Given the description of an element on the screen output the (x, y) to click on. 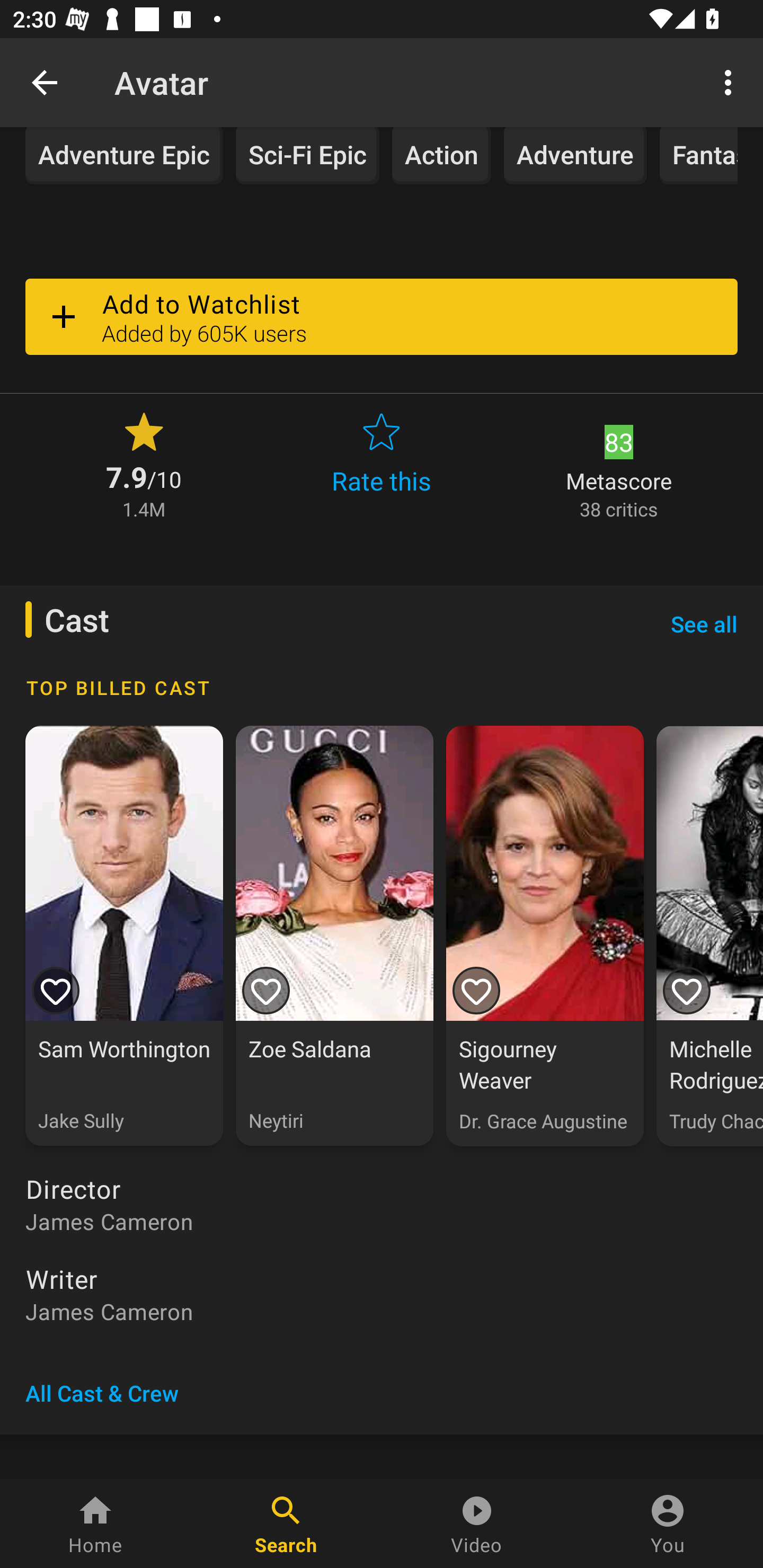
More options (731, 81)
Adventure Epic (123, 156)
Sci-Fi Epic (307, 156)
Action (441, 156)
Adventure (575, 156)
Fantasy (698, 156)
Add to Watchlist Added by 605K users (381, 316)
7.9 /10 1.4M (143, 464)
Rate this (381, 464)
83 Metascore 38 critics (618, 464)
See all See all Cast (703, 623)
Sam Worthington Jake Sully (123, 935)
Zoe Saldana Neytiri (334, 935)
Sigourney Weaver Dr. Grace Augustine (544, 935)
Michelle Rodriguez Trudy Chacón (709, 935)
James Cameron (381, 1221)
James Cameron (381, 1311)
All Cast & Crew (101, 1393)
Home (95, 1523)
Video (476, 1523)
You (667, 1523)
